Given the description of an element on the screen output the (x, y) to click on. 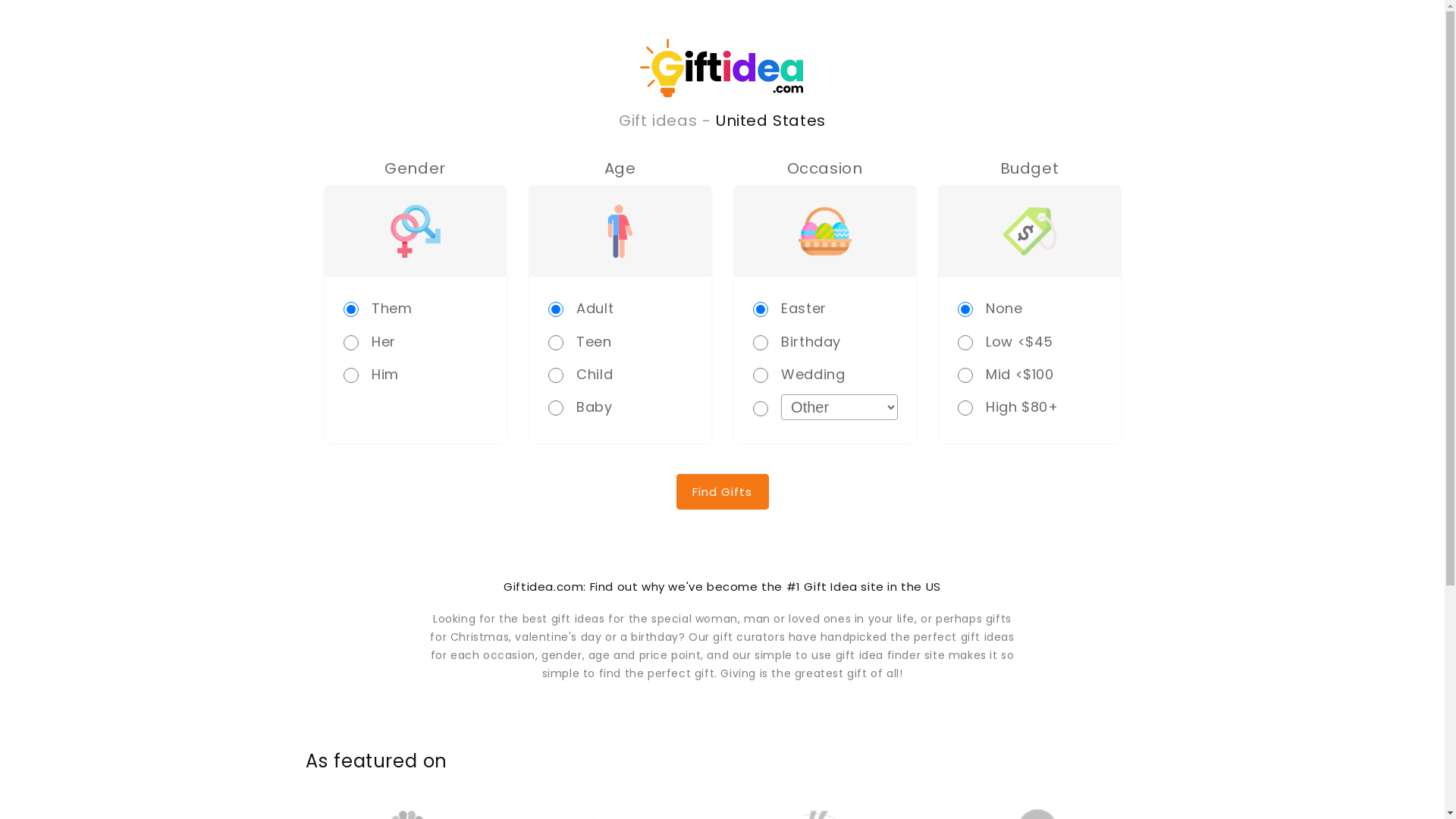
United States Element type: text (770, 120)
Find Gifts Element type: text (722, 491)
